Given the description of an element on the screen output the (x, y) to click on. 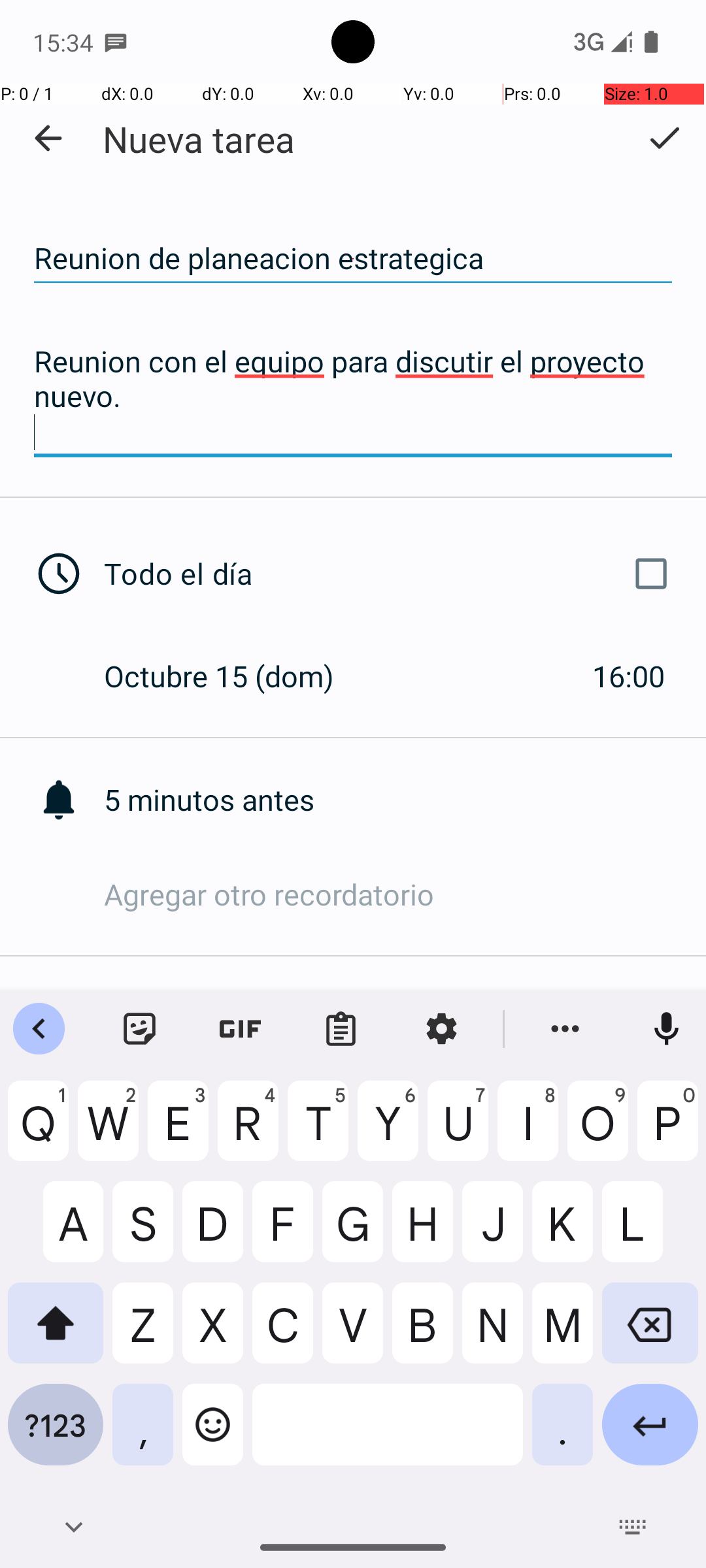
Nueva tarea Element type: android.widget.TextView (198, 138)
Reunion de planeacion estrategica Element type: android.widget.EditText (352, 258)
Reunion con el equipo para discutir el proyecto nuevo.
 Element type: android.widget.EditText (352, 396)
5 minutos antes Element type: android.widget.TextView (404, 798)
